Given the description of an element on the screen output the (x, y) to click on. 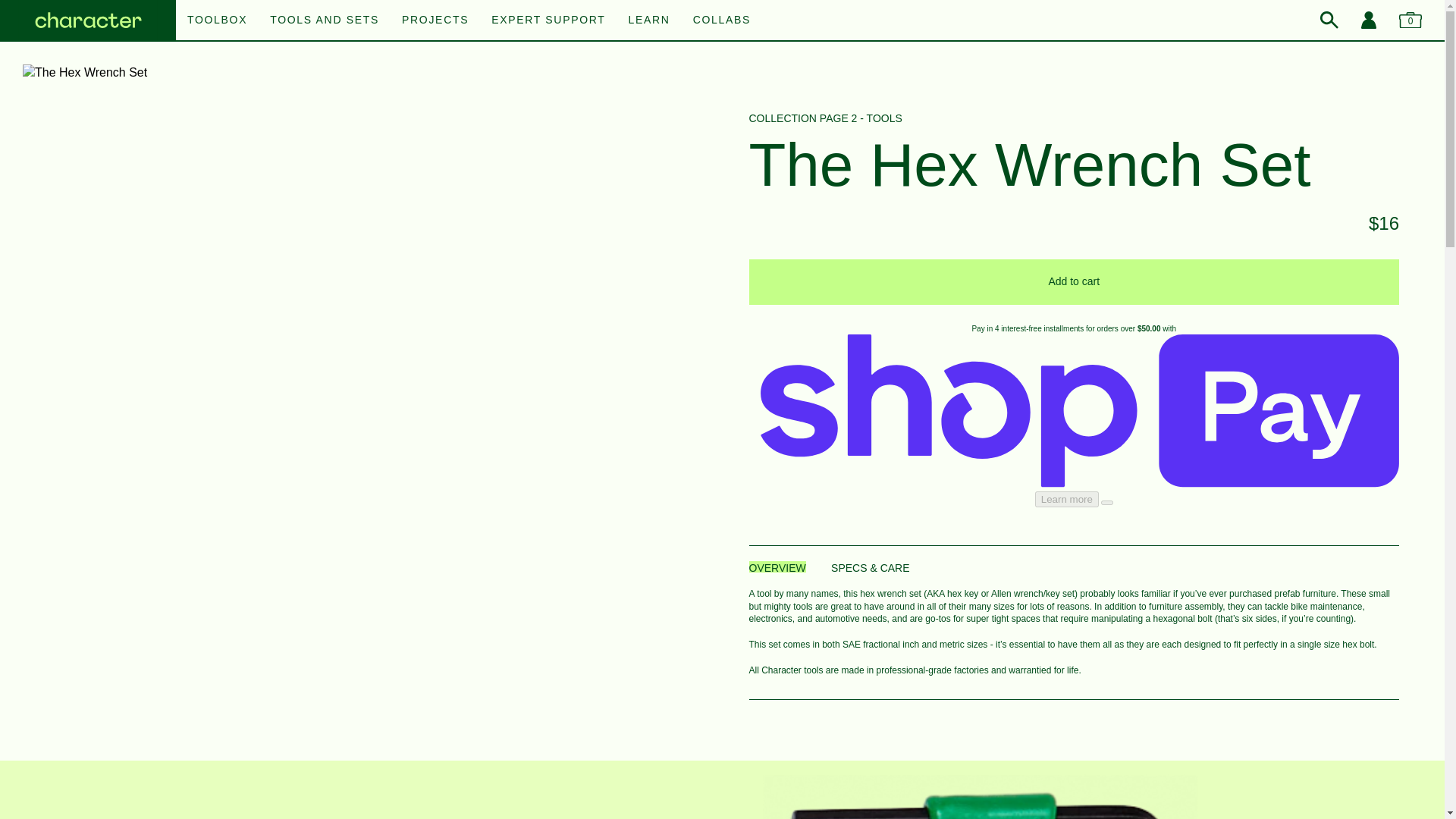
SHOP ALL COLLABS (722, 10)
0 (1409, 19)
Login (1368, 20)
Character Logo (88, 20)
TOOLS AND SETS (323, 19)
SHOP ALL TOOLS AND SETS (721, 10)
Character Logo (88, 20)
LEARN (648, 19)
PROJECTS (434, 19)
EXPERT SUPPORT (548, 19)
COLLABS (722, 19)
Home (88, 20)
TOOLBOX (217, 19)
